Given the description of an element on the screen output the (x, y) to click on. 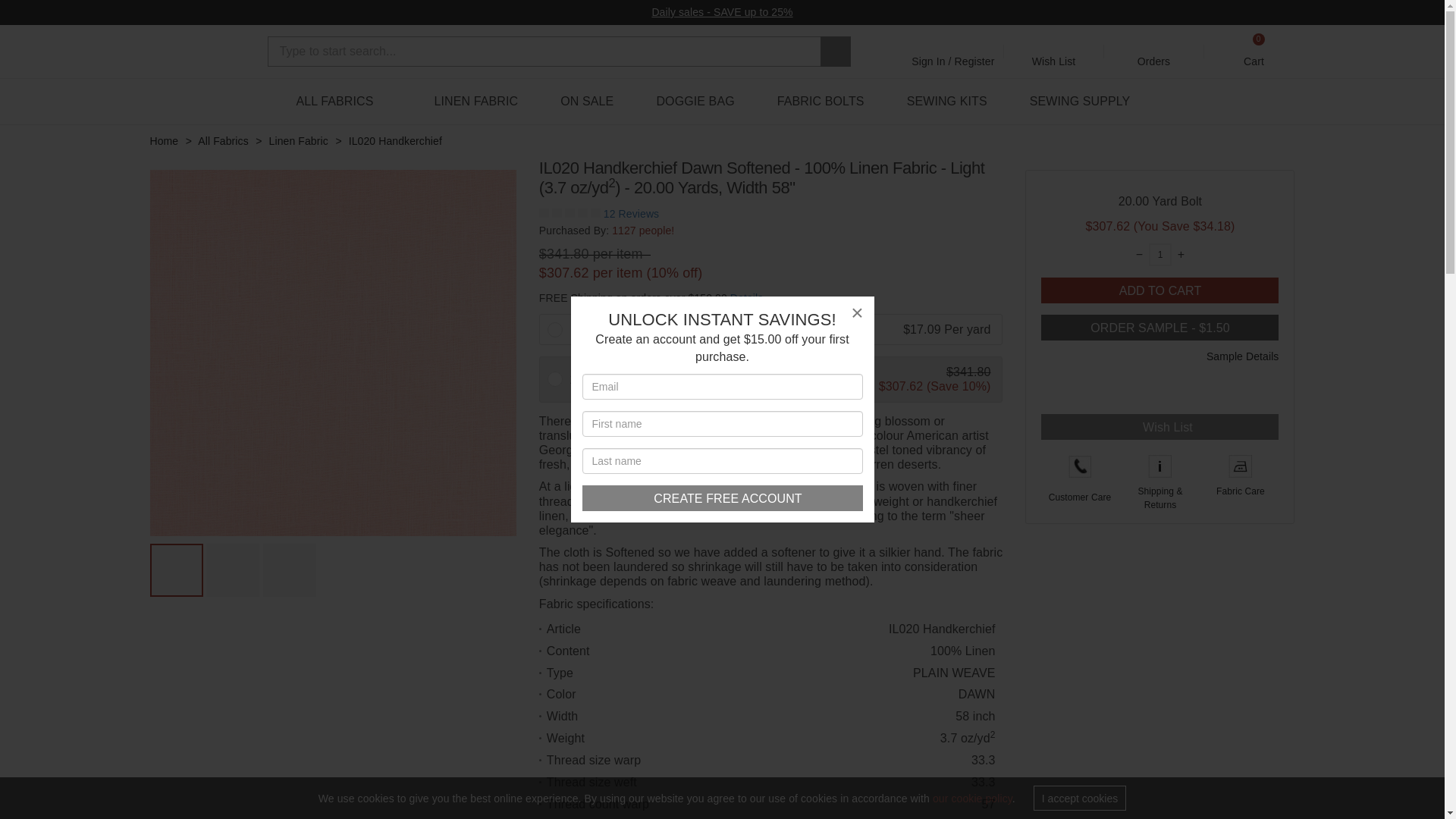
LINEN FABRIC (475, 101)
Orders (1154, 51)
DOGGIE BAG (694, 101)
1 (1160, 254)
ALL FABRICS (344, 101)
Quantity, whole numbers only (1160, 254)
FABRIC BOLTS (820, 101)
ON SALE (586, 101)
CREATE FREE ACCOUNT (1253, 51)
SEWING KITS (722, 498)
Wish List (947, 101)
